Given the description of an element on the screen output the (x, y) to click on. 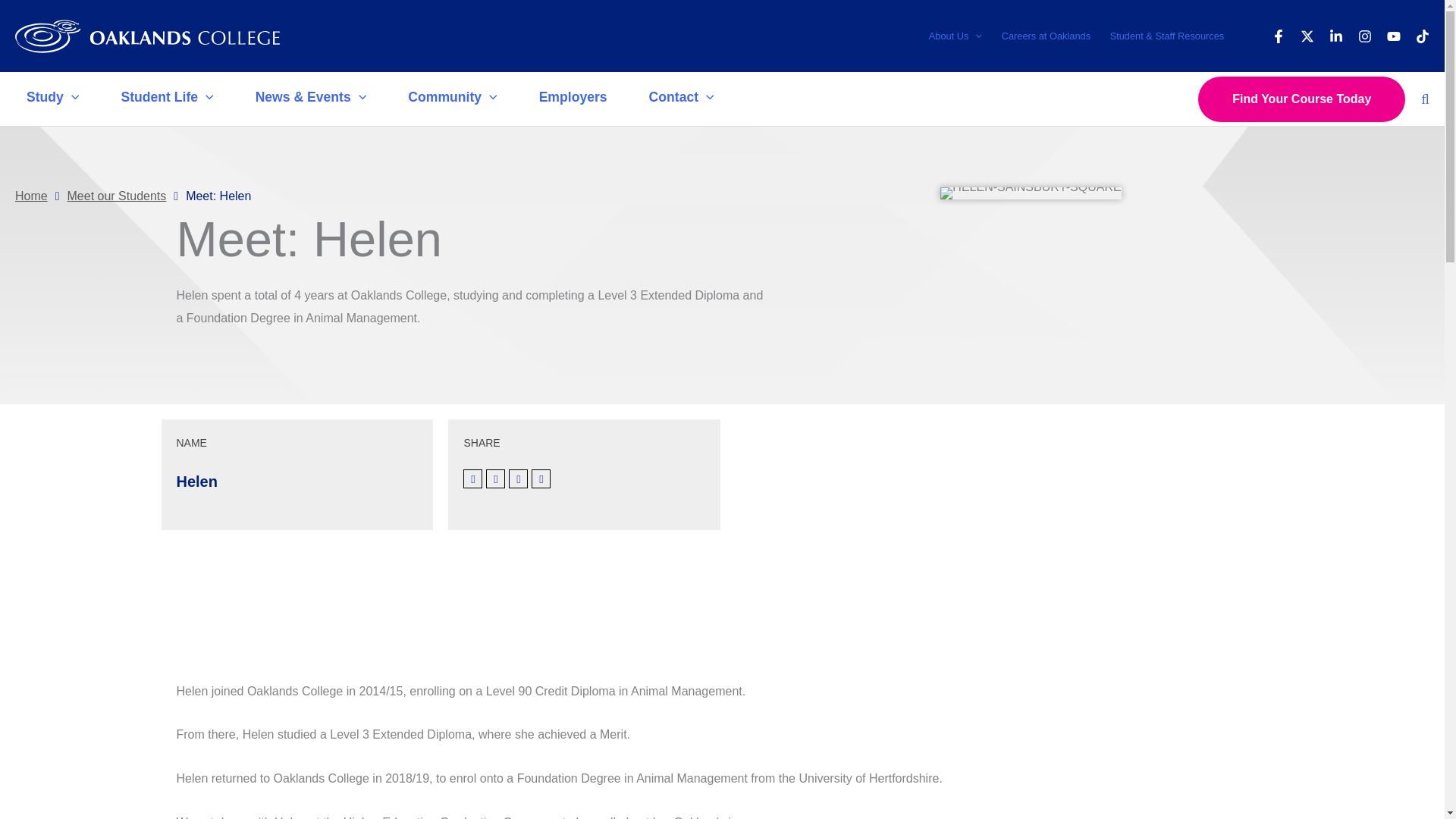
About Us (954, 36)
HELEN-SAINSBURY-SQUARE (1030, 193)
Careers at Oaklands (1045, 36)
Click Here (284, 593)
Study (54, 99)
